Given the description of an element on the screen output the (x, y) to click on. 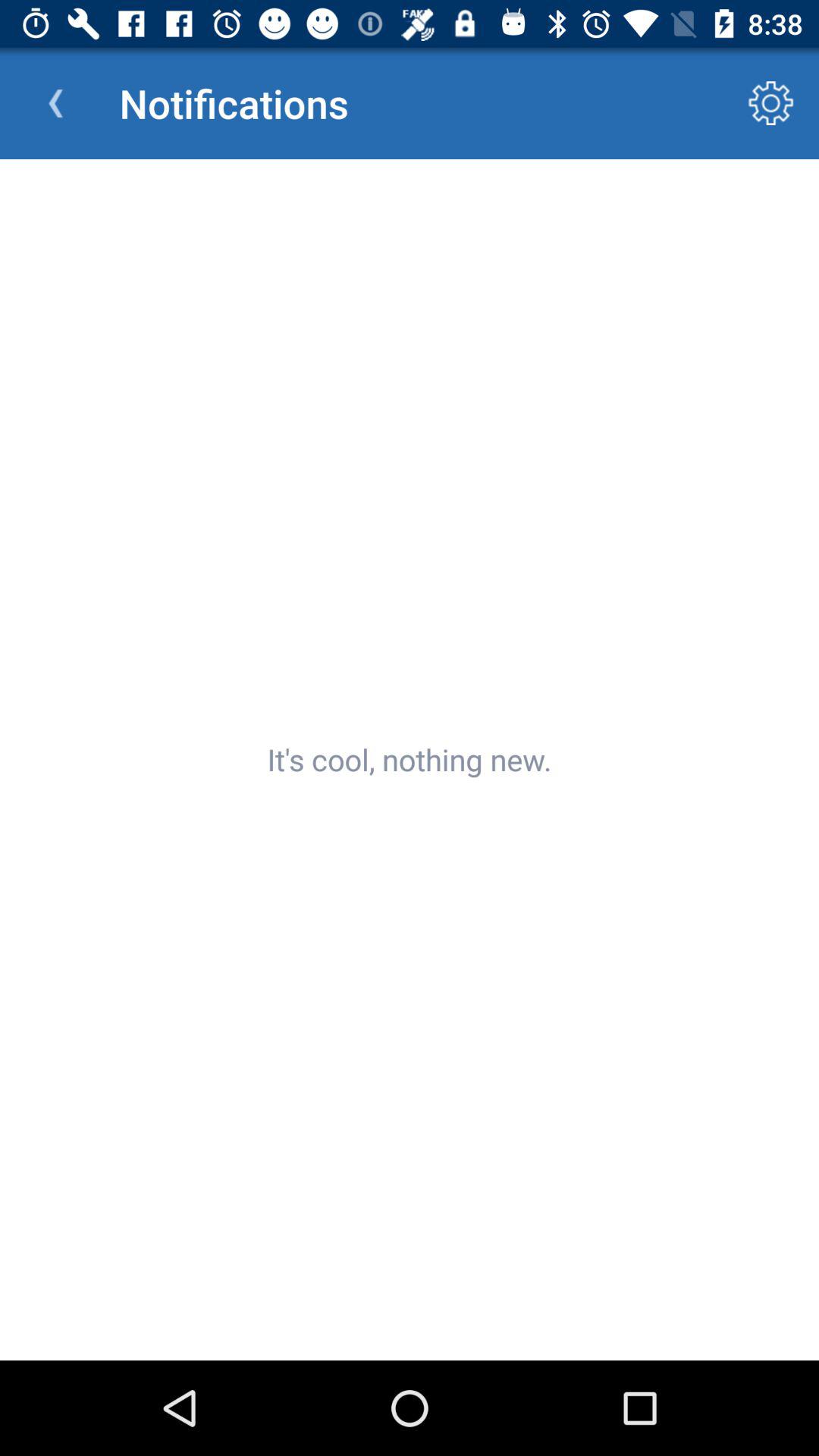
click the icon next to notifications (771, 103)
